Given the description of an element on the screen output the (x, y) to click on. 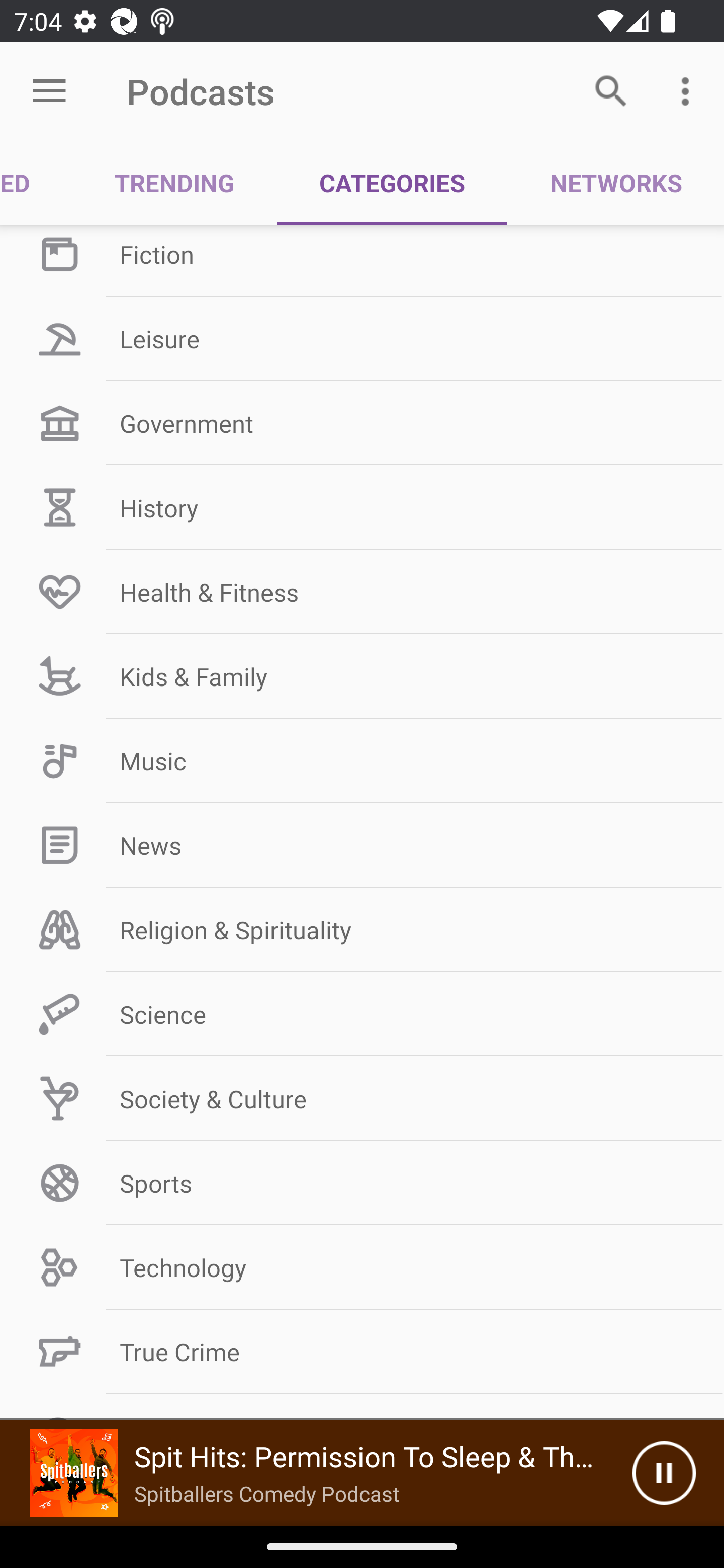
Open menu (49, 91)
Search (611, 90)
More options (688, 90)
TRENDING (174, 183)
CATEGORIES (391, 183)
NETWORKS (615, 183)
Fiction (362, 260)
Leisure (362, 338)
Government (362, 423)
History (362, 507)
Health & Fitness (362, 591)
Kids & Family (362, 675)
Music (362, 760)
News (362, 844)
Religion & Spirituality (362, 929)
Science (362, 1014)
Society & Culture (362, 1098)
Sports (362, 1182)
Technology (362, 1266)
True Crime (362, 1351)
Pause (663, 1472)
